Given the description of an element on the screen output the (x, y) to click on. 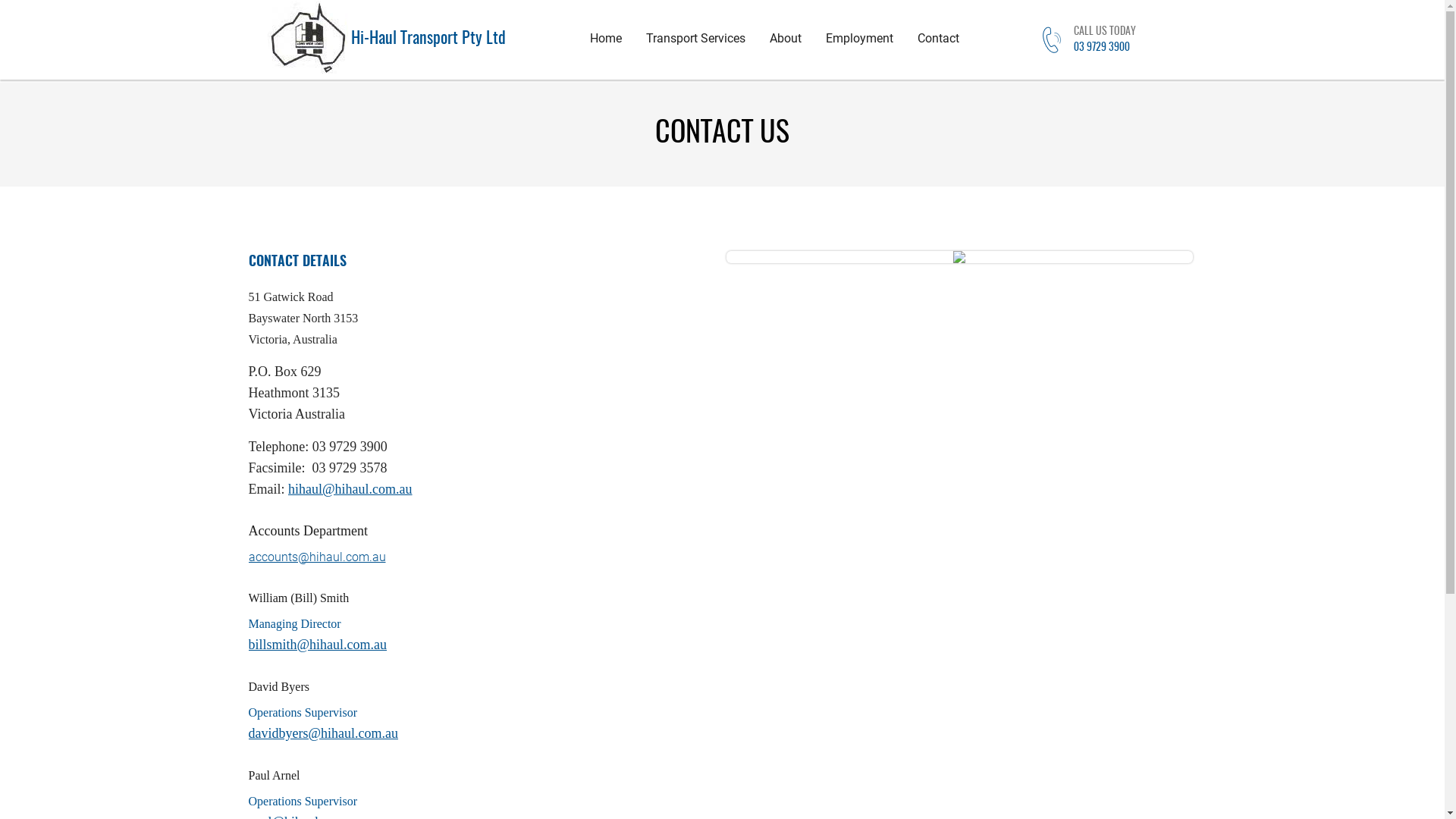
Transport Services Element type: text (695, 38)
hihaul@hihaul.com.au Element type: text (350, 488)
03 9729 3900 Element type: text (1104, 47)
Employment Element type: text (859, 38)
Contact Element type: text (938, 38)
About Element type: text (785, 38)
Home Element type: text (605, 38)
billsmith@hihaul.com.au Element type: text (317, 644)
accounts@hihaul.com.au Element type: text (316, 556)
davidbyers@hihaul.com.au Element type: text (323, 732)
